Given the description of an element on the screen output the (x, y) to click on. 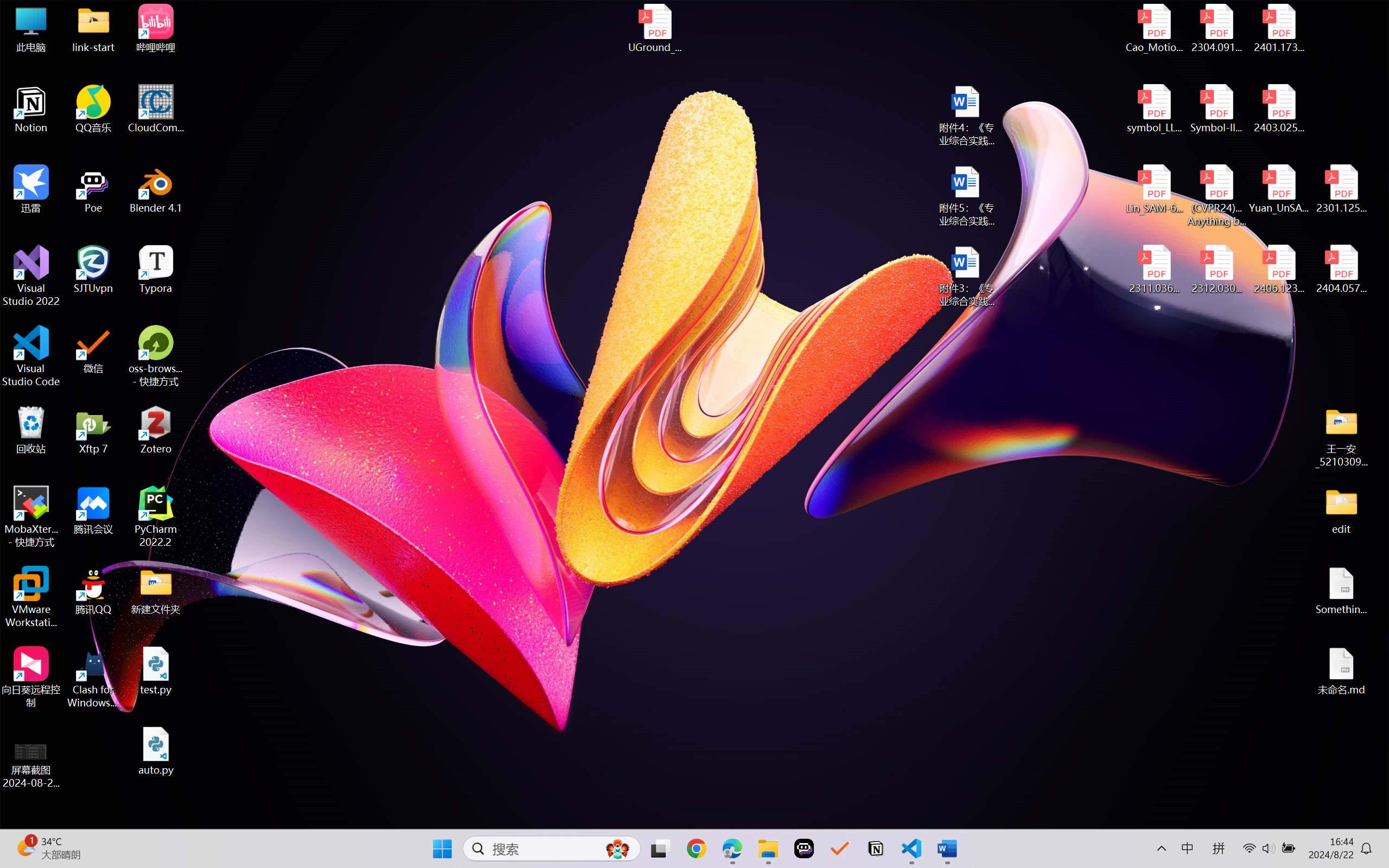
Google Chrome (696, 848)
UGround_paper.pdf (654, 28)
Typora (156, 269)
